Given the description of an element on the screen output the (x, y) to click on. 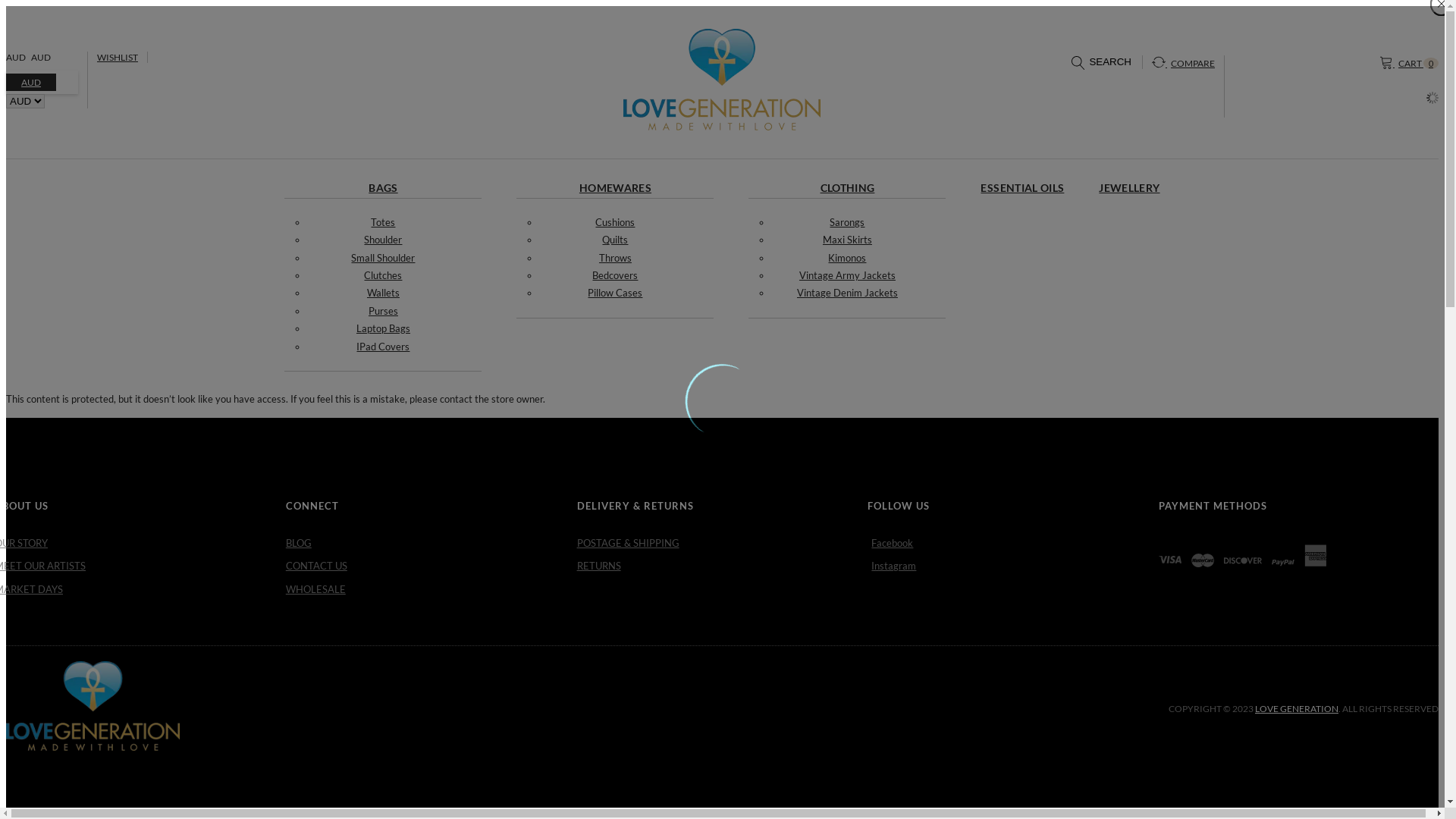
CART 0 Element type: text (1408, 62)
Love Generation Element type: hover (92, 705)
Kimonos Element type: text (847, 257)
HOMEWARES Element type: text (615, 187)
Bedcovers Element type: text (614, 274)
IPad Covers Element type: text (382, 346)
Small Shoulder Element type: text (382, 257)
Quilts Element type: text (614, 239)
Vintage Denim Jackets Element type: text (847, 292)
ESSENTIAL OILS Element type: text (1021, 187)
AUD AUD Element type: text (30, 56)
Vintage Army Jackets Element type: text (847, 274)
LOVE GENERATION Element type: text (1296, 708)
Instagram Element type: text (1012, 565)
Throws Element type: text (615, 257)
CONTACT US Element type: text (431, 565)
Laptop Bags Element type: text (383, 327)
Cushions Element type: text (614, 221)
Purses Element type: text (383, 310)
Clutches Element type: text (382, 274)
Facebook Element type: text (1012, 543)
Shoulder Element type: text (382, 239)
Maxi Skirts Element type: text (847, 239)
COMPARE Element type: text (1182, 62)
WHOLESALE Element type: text (431, 589)
AUD Element type: text (31, 81)
JEWELLERY Element type: text (1128, 187)
Totes Element type: text (382, 221)
CLOTHING Element type: text (847, 187)
WISHLIST Element type: text (117, 56)
Wallets Element type: text (383, 292)
RETURNS Element type: text (722, 565)
BAGS Element type: text (382, 187)
POSTAGE & SHIPPING Element type: text (722, 543)
Sarongs Element type: text (846, 221)
SEARCH Element type: text (1100, 63)
Love Generation Element type: hover (721, 79)
BLOG Element type: text (431, 543)
Pillow Cases Element type: text (614, 292)
